Given the description of an element on the screen output the (x, y) to click on. 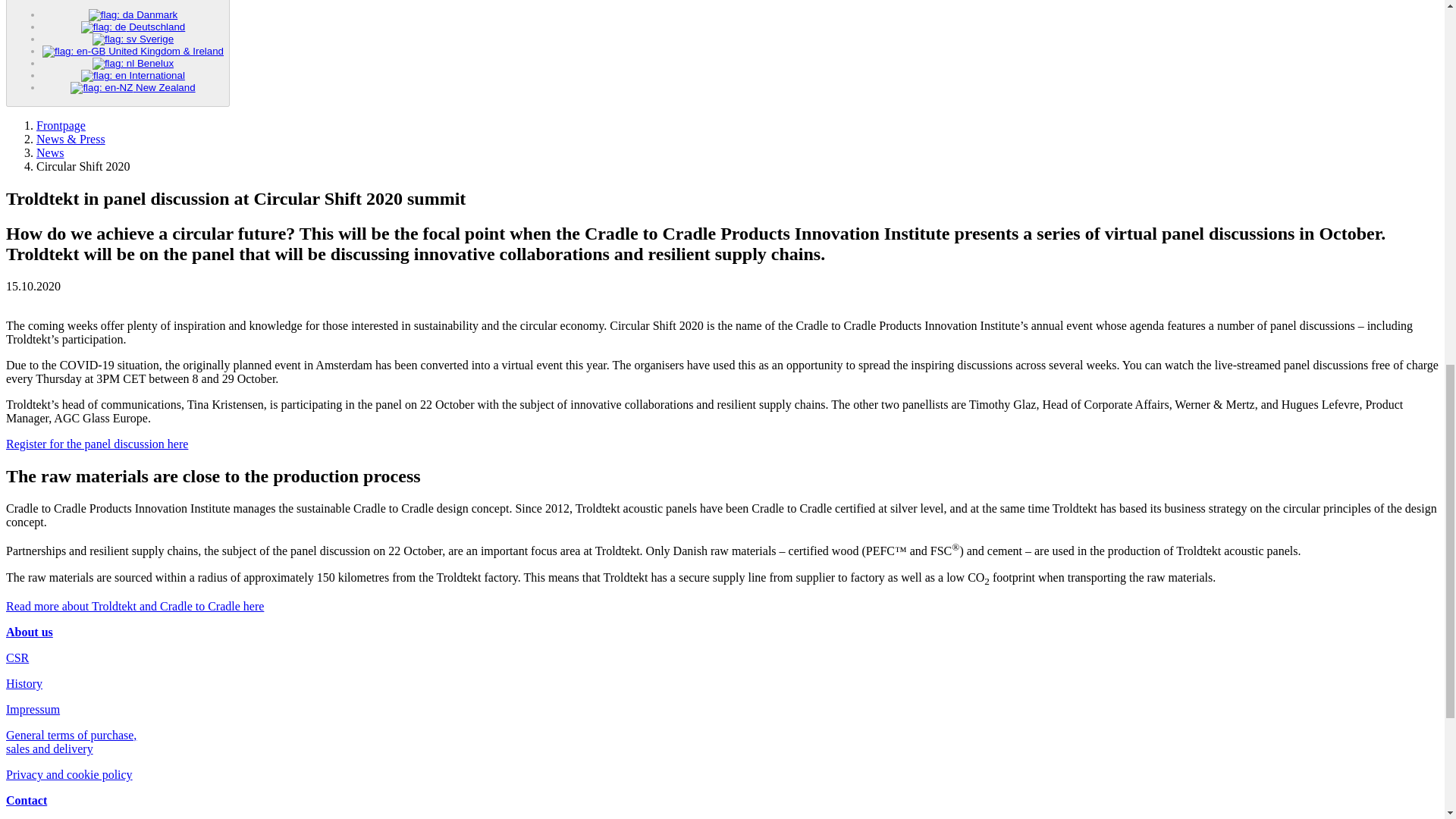
Sverige (133, 39)
Danmark (132, 14)
Data og cookiepolitik (68, 774)
Impressum (32, 708)
Historie (23, 683)
Cradle to Cradle (134, 605)
New Zealand (132, 87)
International (132, 75)
Kontakt (25, 799)
Salgs- og leveringsbetingelser (70, 741)
CSR (17, 657)
Om os (28, 631)
Benelux (133, 62)
Deutschland (133, 26)
